Given the description of an element on the screen output the (x, y) to click on. 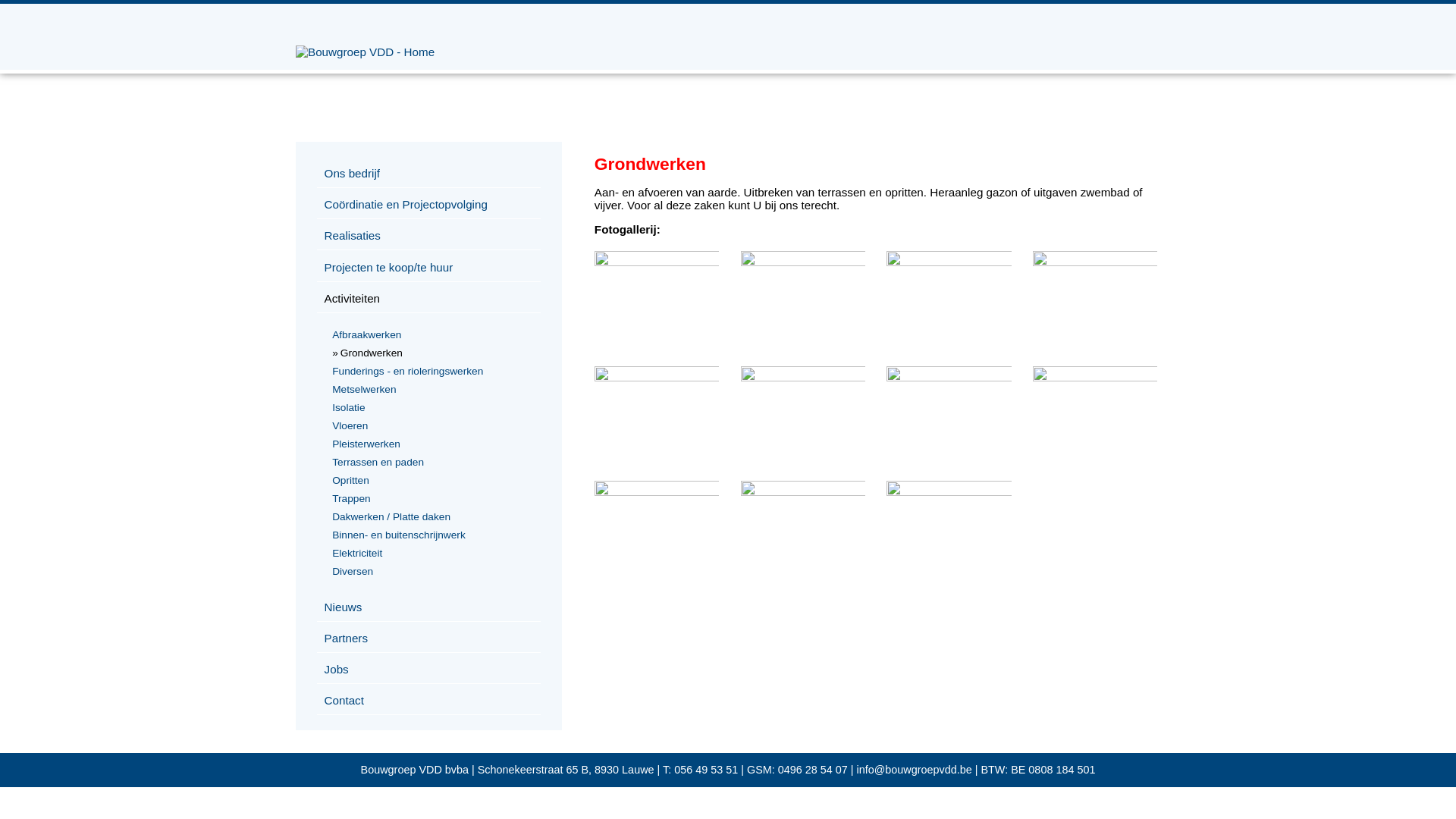
Grondwerken Element type: hover (948, 376)
Terrassen en paden Element type: text (431, 462)
Dakwerken / Platte daken Element type: text (431, 516)
Grondwerken Element type: hover (656, 261)
Binnen- en buitenschrijnwerk Element type: text (431, 534)
Partners Element type: text (428, 638)
Ons bedrijf Element type: text (428, 173)
Vloeren Element type: text (431, 425)
Afbraakwerken Element type: text (431, 334)
Grondwerken Element type: hover (656, 376)
Elektriciteit Element type: text (431, 553)
Grondwerken Element type: hover (1094, 261)
Grondwerken Element type: hover (802, 261)
Nieuws Element type: text (428, 607)
Metselwerken Element type: text (431, 389)
Grondwerken Element type: hover (948, 261)
Projecten te koop/te huur Element type: text (428, 267)
Realisaties Element type: text (428, 235)
Grondwerken Element type: hover (802, 491)
Grondwerken Element type: hover (1094, 376)
Isolatie Element type: text (431, 407)
Diversen Element type: text (431, 571)
Contact Element type: text (428, 700)
Funderings - en rioleringswerken Element type: text (431, 371)
info@bouwgroepvdd.be Element type: text (914, 769)
Pleisterwerken Element type: text (431, 443)
Jobs Element type: text (428, 669)
Opritten Element type: text (431, 480)
Grondwerken Element type: hover (802, 376)
Grondwerken Element type: hover (948, 491)
Activiteiten Element type: text (428, 298)
Trappen Element type: text (431, 498)
Bouwgroep VDD - Home Element type: hover (364, 51)
Grondwerken Element type: hover (656, 491)
Grondwerken Element type: text (431, 352)
